Given the description of an element on the screen output the (x, y) to click on. 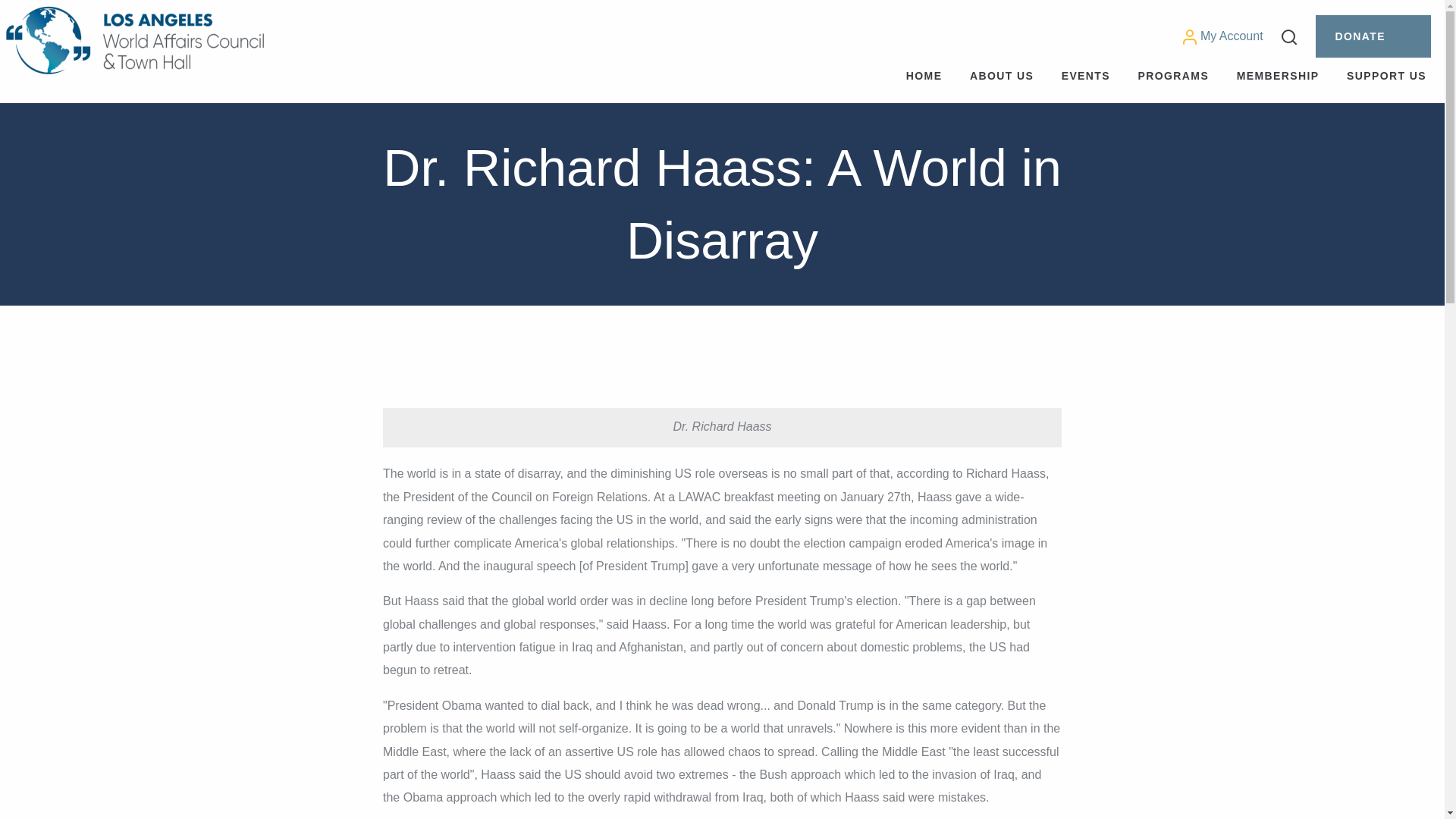
MEMBERSHIP (1278, 75)
PROGRAMS (1173, 75)
ABOUT US (1001, 75)
SUPPORT US (1386, 75)
EVENTS (1085, 75)
DONATE (1373, 36)
My Account (1222, 36)
HOME (924, 75)
